Given the description of an element on the screen output the (x, y) to click on. 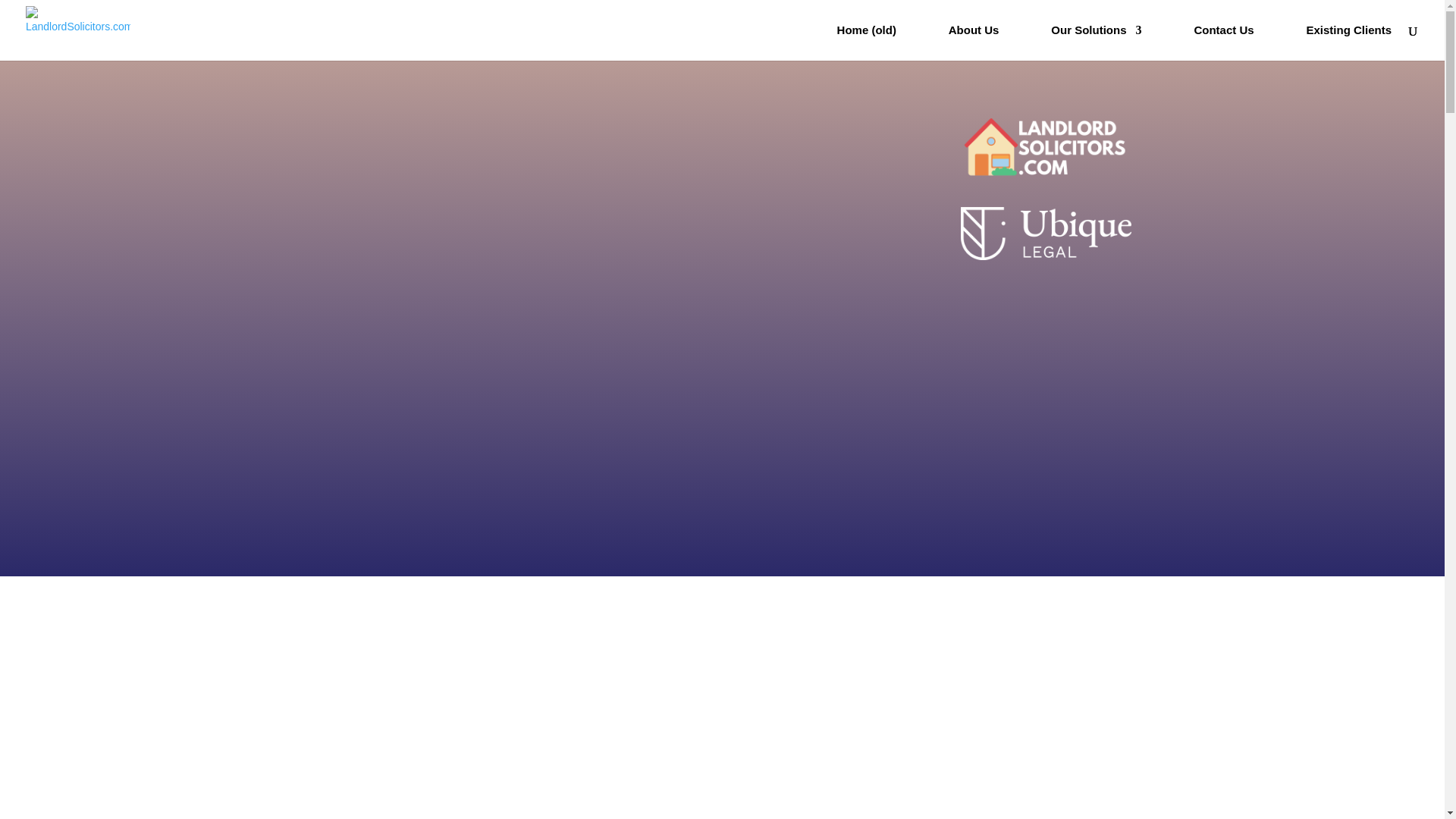
Contact Us (1223, 42)
Our Solutions (1096, 42)
About Us (973, 42)
Existing Clients (1348, 42)
